Given the description of an element on the screen output the (x, y) to click on. 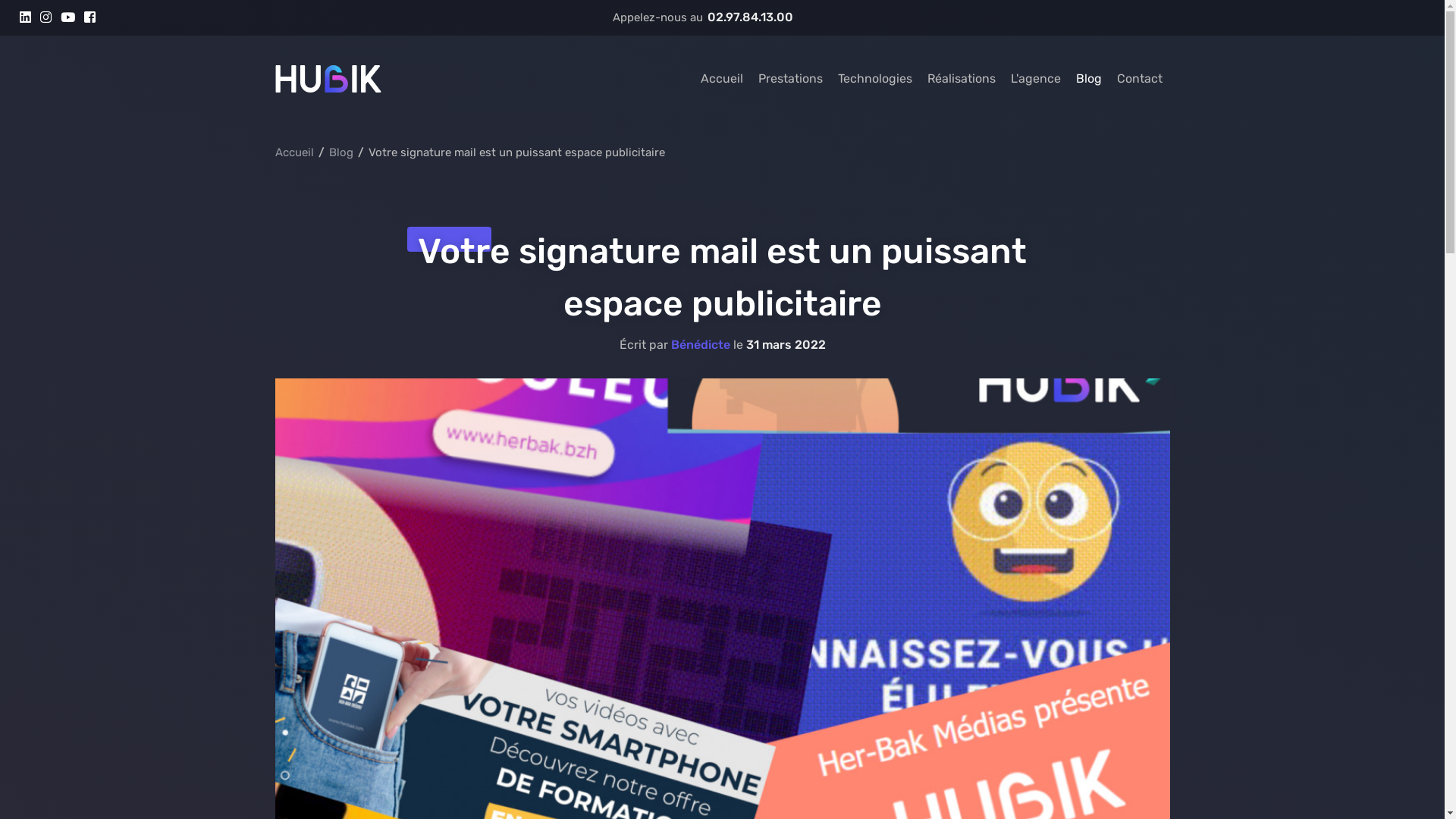
Accueil Element type: text (721, 78)
02.97.84.13.00 Element type: text (749, 16)
Retrouvez nous sur Instagram Element type: hover (45, 16)
Prestations Element type: text (790, 78)
Retrouvez nous sur Youtube Element type: hover (67, 16)
Technologies Element type: text (874, 78)
Blog Element type: text (1087, 78)
Accueil Element type: text (295, 152)
Votre signature mail est un puissant espace publicitaire Element type: text (518, 152)
Blog Element type: text (342, 152)
Contact Element type: text (1138, 78)
Hubik Element type: hover (327, 78)
Retrouvez nous sur Facebook Element type: hover (89, 16)
Retrouvez nous sur Linkedin Element type: hover (25, 16)
L'agence Element type: text (1034, 78)
